Given the description of an element on the screen output the (x, y) to click on. 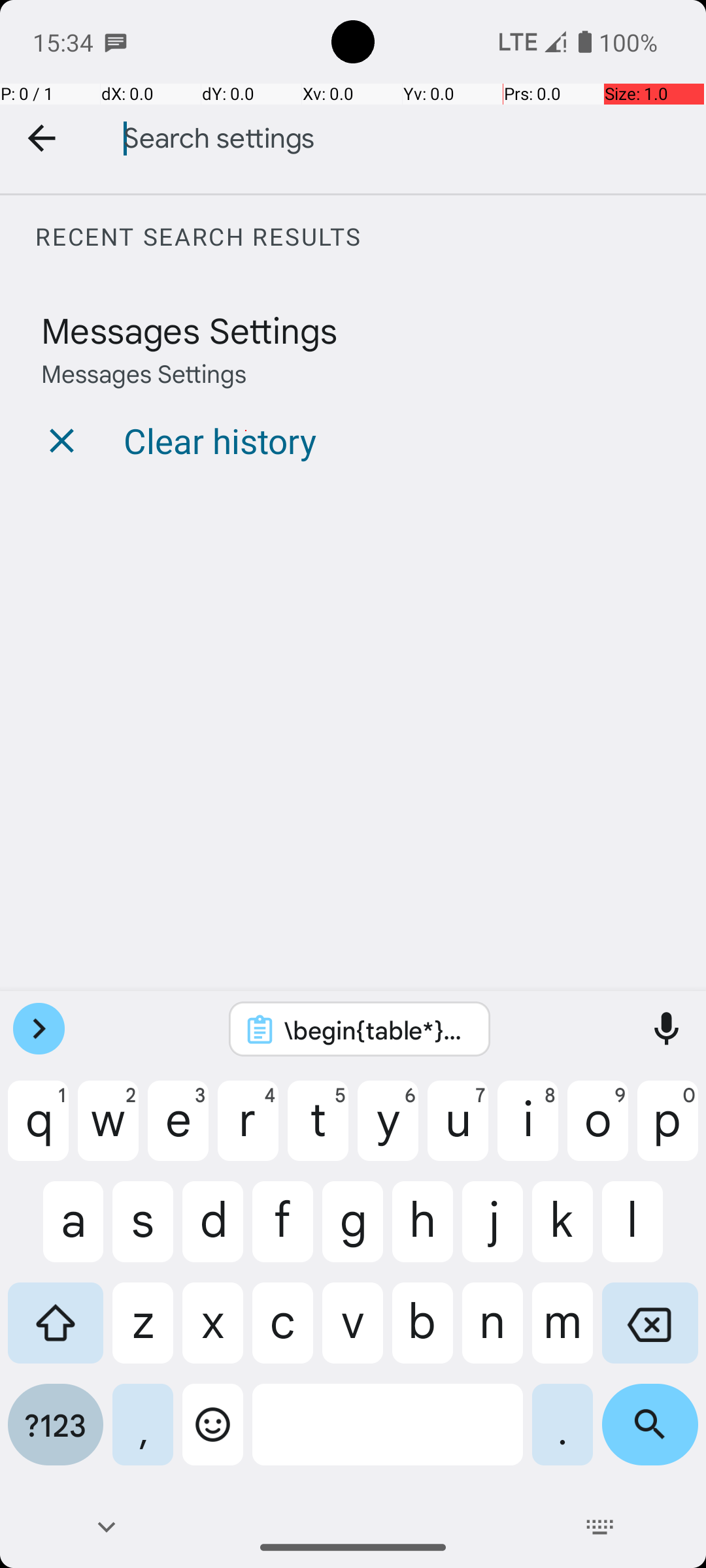
RECENT SEARCH RESULTS Element type: android.widget.TextView (370, 236)
Messages Settings Element type: android.widget.TextView (189, 329)
Clear history Element type: android.widget.TextView (219, 440)
\begin{table*}[t!] \centering \renewcommand\arraystretch{1.1} \tabcolsep=0.05cm {\fontsize{10pt}{12pt}\selectfont \begin{tabular}{cccccccccc} \hline % \toprule          \multirow{2}{*}{LVLMs} & \multirow{2}{*}{\parbox{1.5cm}{\centering Model\\Size}}   & \multirow{2}{*}{\parbox{1.5cm}{\centering GUI\\Specific}} & \multicolumn{2}{c}{Mobile}        & \multicolumn{2}{c}{Desktop}       & \multicolumn{2}{c}{Web}           & \multirow{2}{*}{Average} \\ \cline{4-9}          &    &                               & Text            & Icon/Widget     & Text            & Icon/Widget     & Text            & Icon/Widget     &                          \\  % \midrule \hline MiniGPT-v2     & 7B   & \textcolor{darkred}{\ding{55}}                              &  8.4\%               & 6.6\%                & 6.2\%                & 2.9\%                & 6.5\%                & 3.4\%                & 5.7\%                         \\ Qwen-VL  & 9.6B   & \textcolor{darkred}{\ding{55}}                             & 9.5\%           & 4.8\%           & 5.7\%           & 5.0\%           & 3.5\%           & 2.4\%           & 5.2\%                    \\  GPT-4V   & -    & \textcolor{darkred}{\ding{55}}     & 22.6\%    & 24.5\%    & 20.2\%    & 11.8\%    &9.2\%  & 8.8\%     & 16.2\% \\ \hline Fuyu     & 8B   & \textcolor{darkgreen}{\ding{51}}                               & 41.0\%          & 1.3\%           & 33.0\%          & 3.6\%           & 33.9\%          & 4.4\%           & 19.5\%                   \\ CogAgent & 18B   & \textcolor{darkgreen}{\ding{51}}                               & 67.0\%          & 24.0\%          & \textbf{74.2\%} & 20.0\%          & \textbf{70.4\%} & 28.6\% & 47.4\%                   \\ \seek & 9.6B   & \textcolor{darkgreen}{\ding{51}}                              & \textbf{78.0\%} & \textbf{52.0\%} & 72.2\%          & \textbf{30.0\%} & 55.7\%          & \textbf{32.5\%} & \textbf{53.4\%}          \\  \hline % \bottomrule \end{tabular} } \caption{Results of different LVLMs on \seesp. The best results in each column are highlighted in \textbf{bold}. Benefiting from efficient GUI grounding pre-training, \seek significantly enhanced LVLMs' ability to locate GUI elements following instructions, and surpassed the strong baseline CogAgent with a smaller model size.} \label{tab:screenspot} \vspace{-1.0em} \end{table*} Element type: android.widget.TextView (376, 1029)
